Given the description of an element on the screen output the (x, y) to click on. 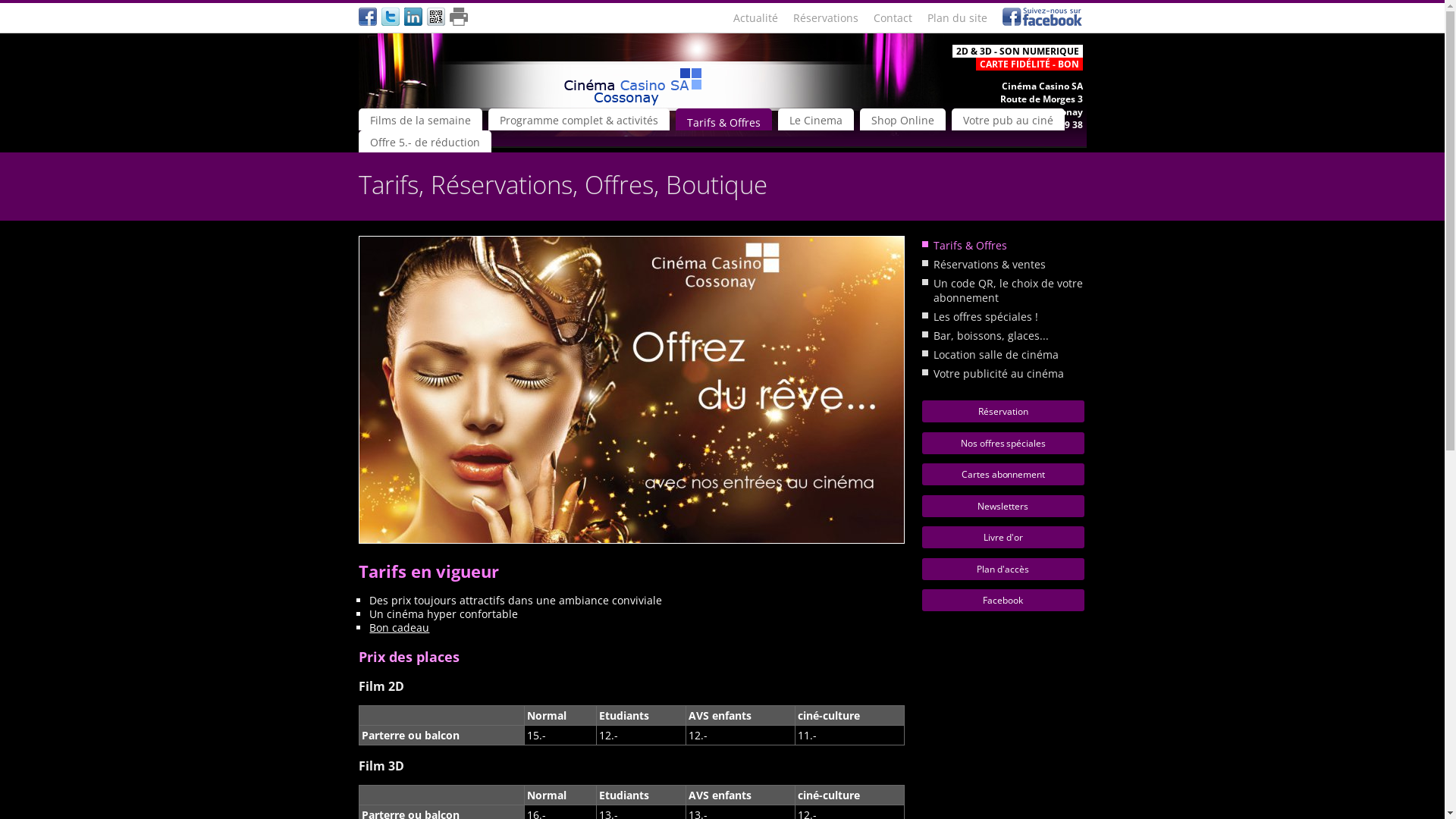
Bon cadeau Element type: text (399, 627)
Newsletters Element type: text (1003, 506)
Version imprimable Element type: hover (457, 16)
Contact Element type: text (892, 17)
Livre d'or Element type: text (1003, 537)
Plan du site Element type: text (956, 17)
Tarifs & Offres Element type: text (1002, 244)
Tarifs & Offres Element type: text (722, 119)
Films de la semaine Element type: text (419, 119)
Partager sur Twitter Element type: hover (389, 17)
Un code QR, le choix de votre abonnement Element type: text (1002, 290)
Bar, boissons, glaces... Element type: text (1002, 335)
Afficher le QR-Code Element type: hover (435, 17)
Partager sur Facebook Element type: hover (366, 17)
Facebook Element type: text (1003, 600)
Partager sur LinkedIn Element type: hover (412, 17)
Le Cinema Element type: text (815, 119)
Shop Online Element type: text (902, 119)
Cartes abonnement Element type: text (1003, 474)
